Given the description of an element on the screen output the (x, y) to click on. 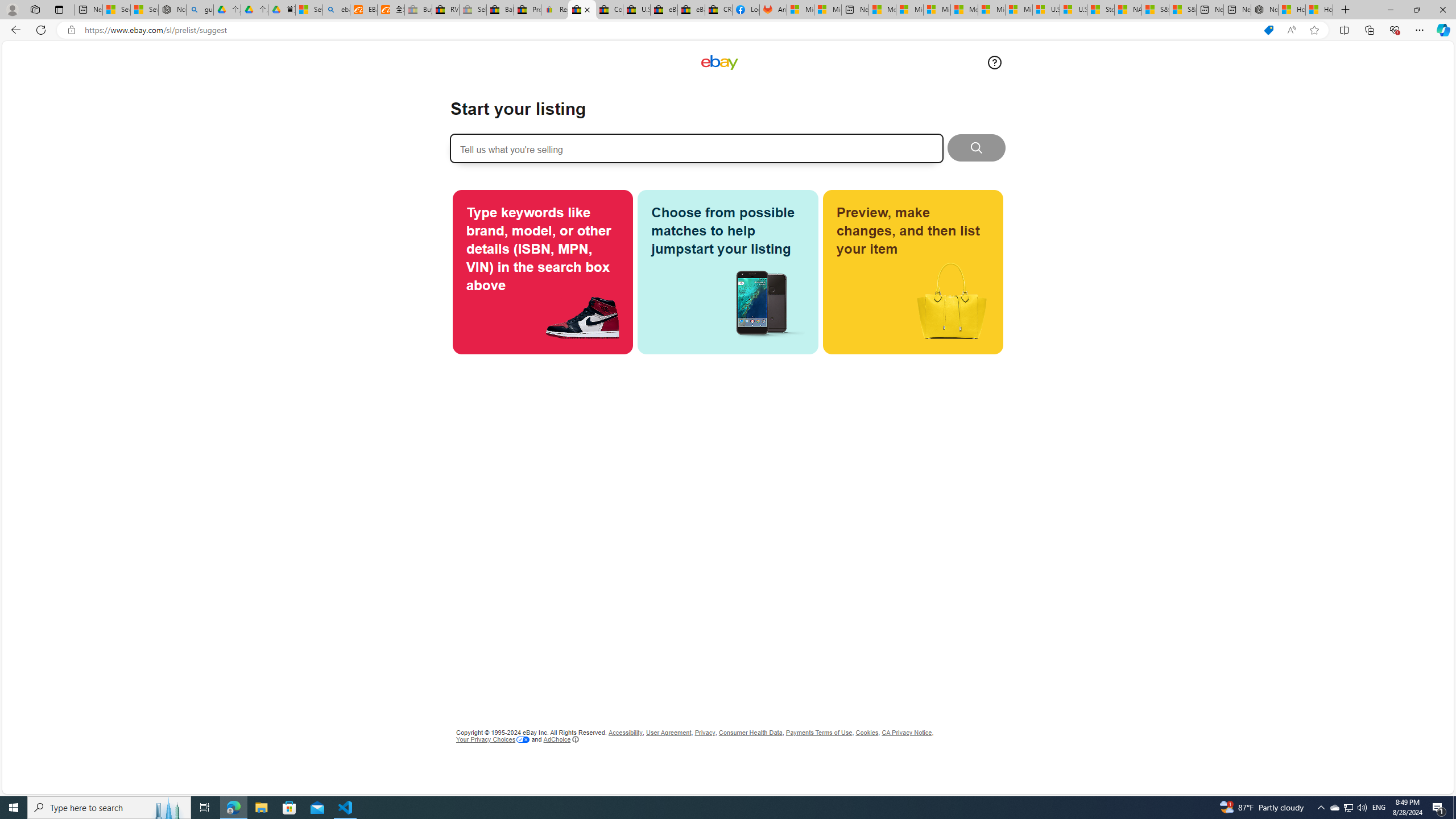
Microsoft account | Privacy (909, 9)
Baby Keepsakes & Announcements for sale | eBay (499, 9)
Tell us what you're selling (696, 148)
Sell worldwide with eBay - Sleeping (473, 9)
Comment about your experience on this page. (994, 61)
Log into Facebook (746, 9)
